Given the description of an element on the screen output the (x, y) to click on. 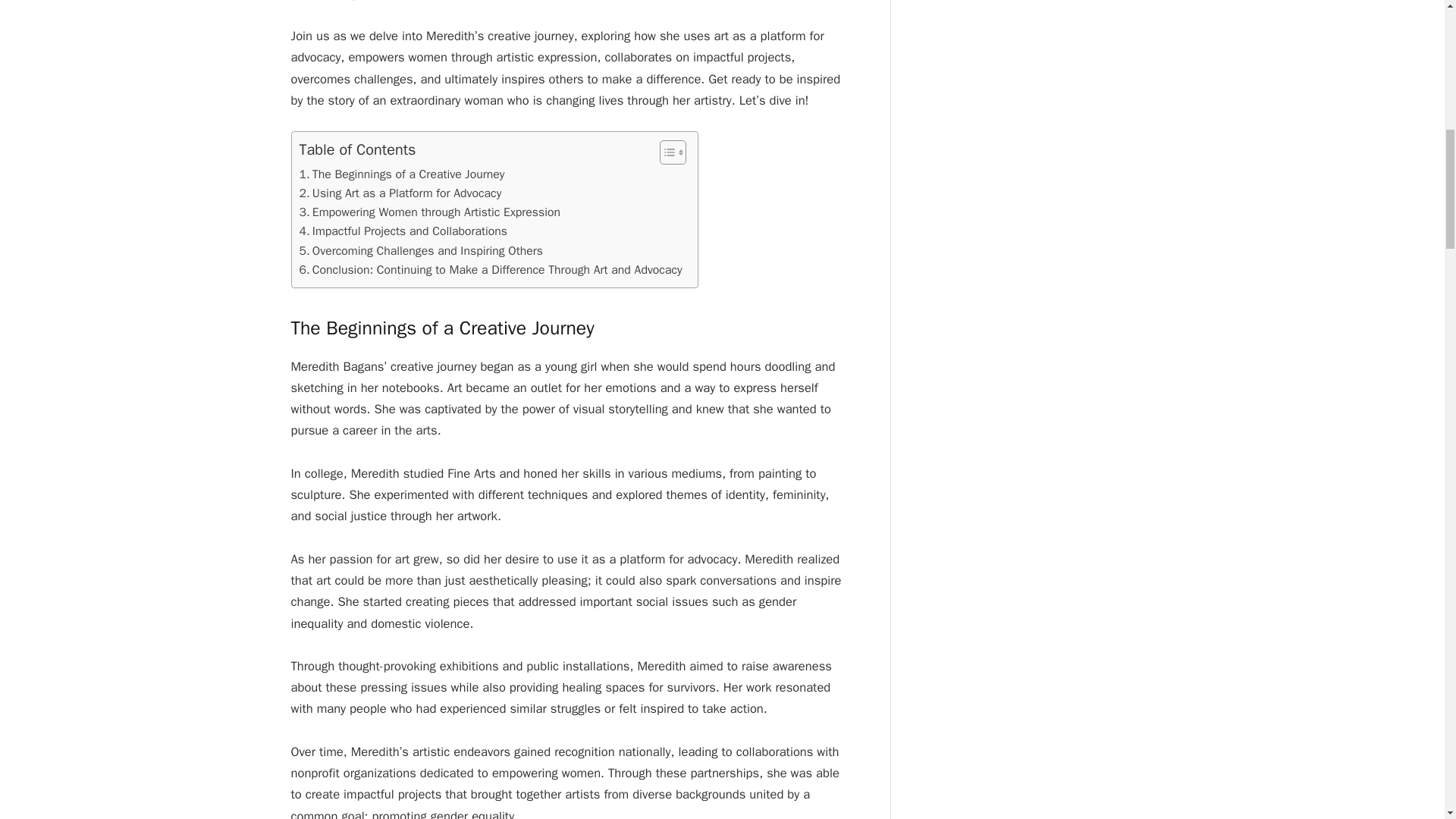
The Beginnings of a Creative Journey (400, 174)
Empowering Women through Artistic Expression (429, 212)
Using Art as a Platform for Advocacy (399, 193)
